Given the description of an element on the screen output the (x, y) to click on. 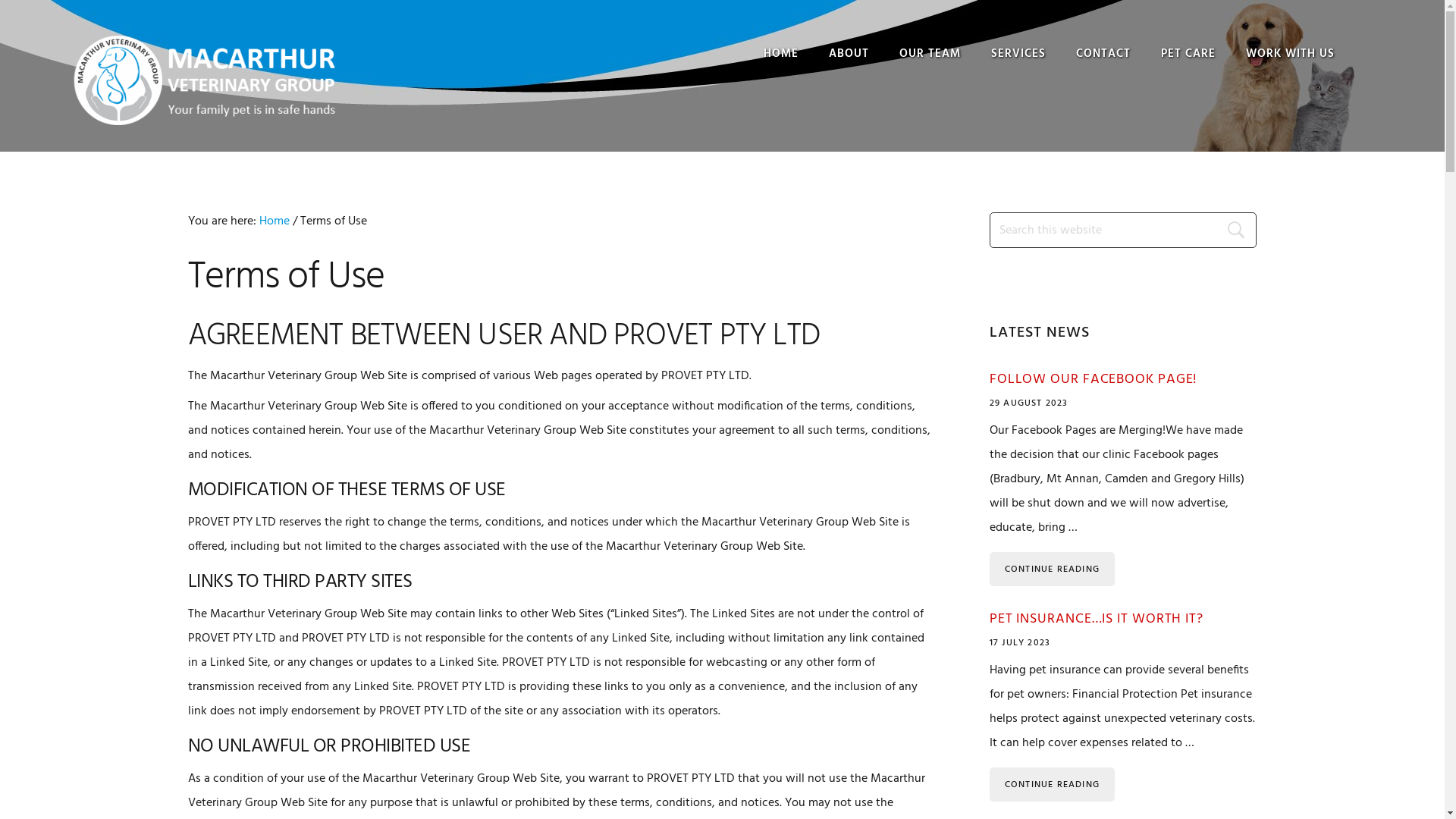
HOME Element type: text (780, 54)
Search Element type: text (1241, 229)
ABOUT Element type: text (848, 54)
OUR TEAM Element type: text (929, 54)
FOLLOW OUR FACEBOOK PAGE! Element type: text (1093, 379)
PET CARE Element type: text (1188, 54)
WORK WITH US Element type: text (1289, 54)
Home Element type: text (274, 221)
CONTINUE READING Element type: text (1051, 569)
Skip to primary navigation Element type: text (0, 0)
Macarthur Veterinary Group Element type: text (204, 79)
SERVICES Element type: text (1018, 54)
CONTINUE READING Element type: text (1051, 784)
CONTACT Element type: text (1103, 54)
